Given the description of an element on the screen output the (x, y) to click on. 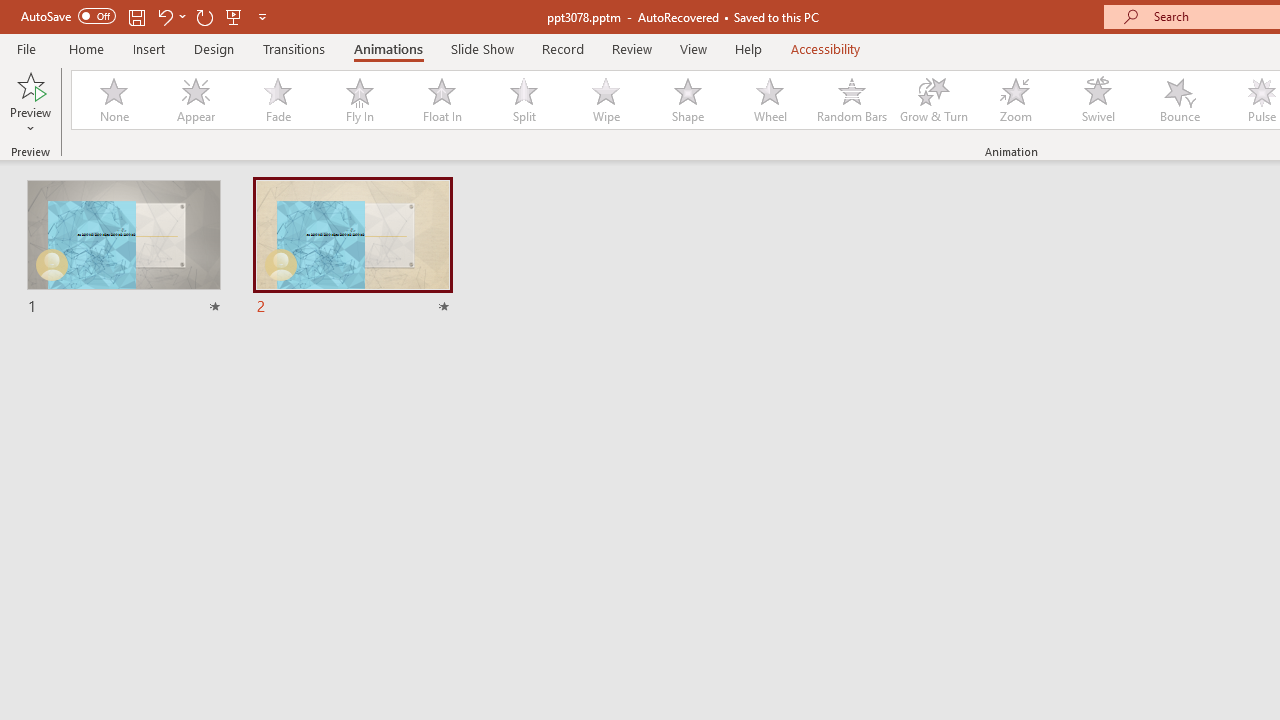
Appear (195, 100)
